Given the description of an element on the screen output the (x, y) to click on. 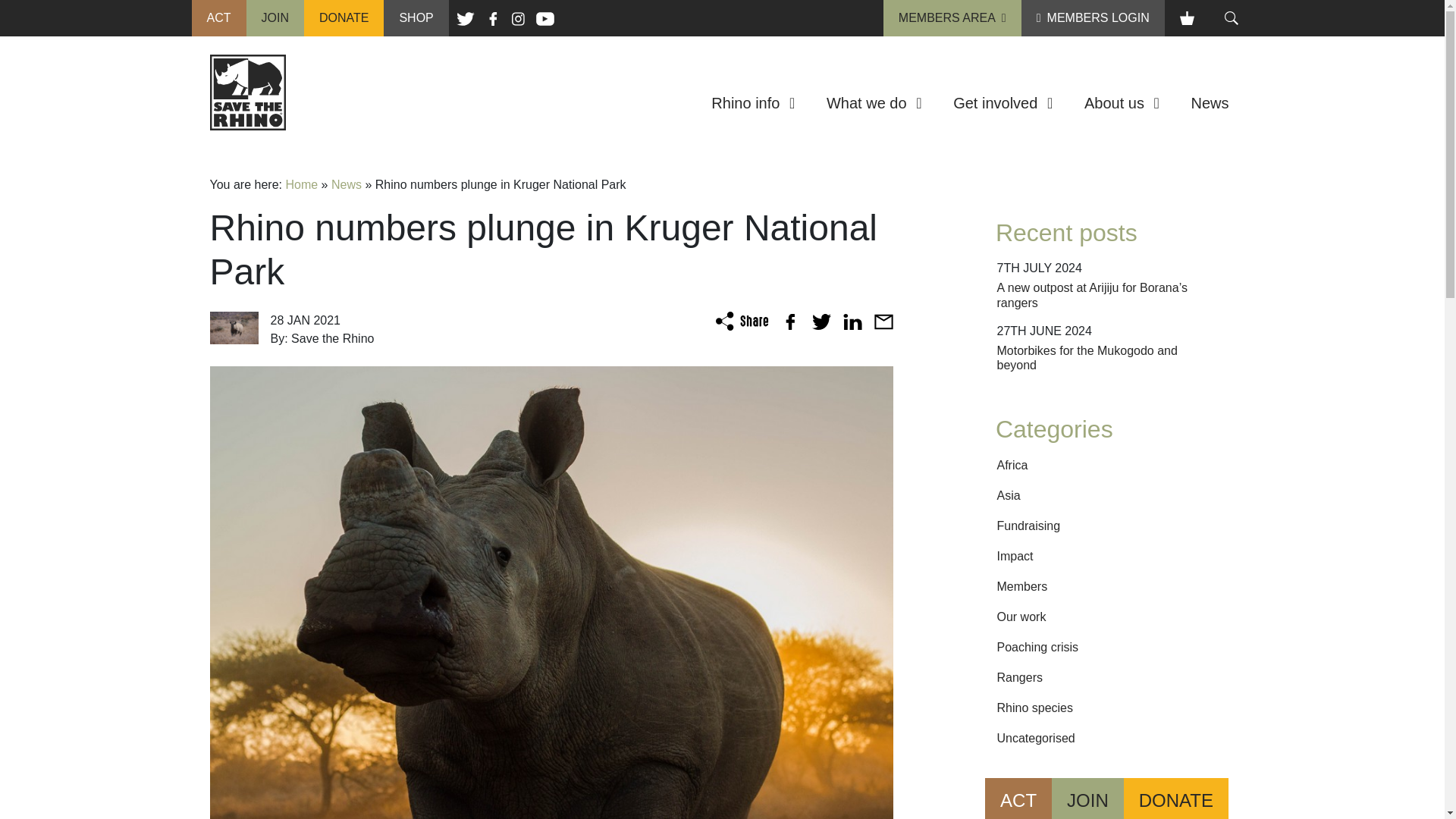
SHOP (415, 18)
Save The Rhino (247, 91)
Rhino info (752, 103)
Profile (1093, 18)
What we do (874, 103)
Members Area (952, 18)
Get involved (1002, 103)
MEMBERS LOGIN (1093, 18)
Search (1230, 18)
ACT (218, 18)
Basket (1186, 18)
JOIN (274, 18)
MEMBERS AREA (952, 18)
DONATE (343, 18)
